Given the description of an element on the screen output the (x, y) to click on. 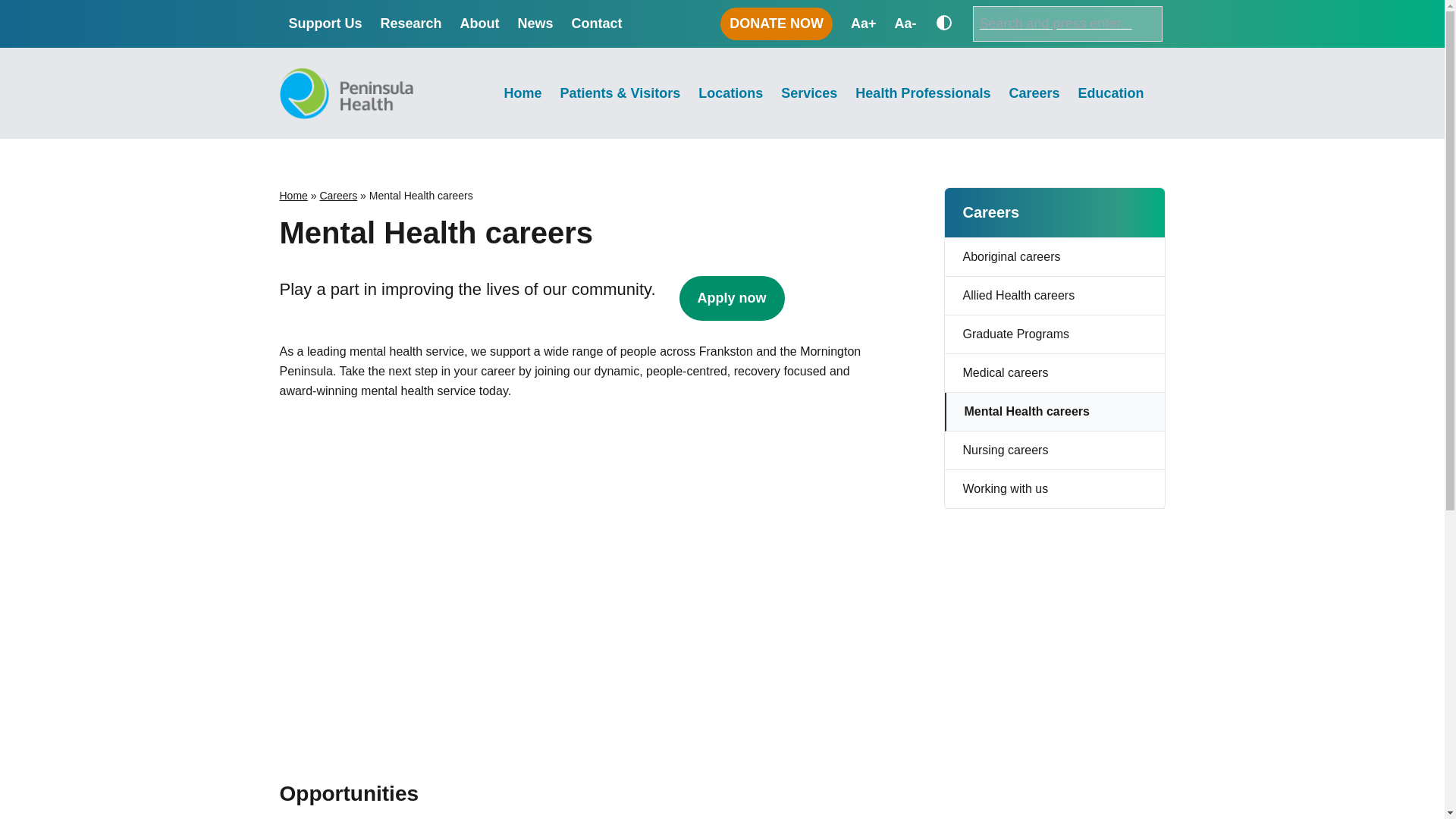
DONATE NOW (776, 23)
Peninsula Health (340, 138)
DONATE NOW (776, 23)
Aa- (904, 24)
Home (293, 195)
Contact (597, 24)
Apply now (731, 298)
Careers (337, 195)
Medical careers (1054, 373)
